Given the description of an element on the screen output the (x, y) to click on. 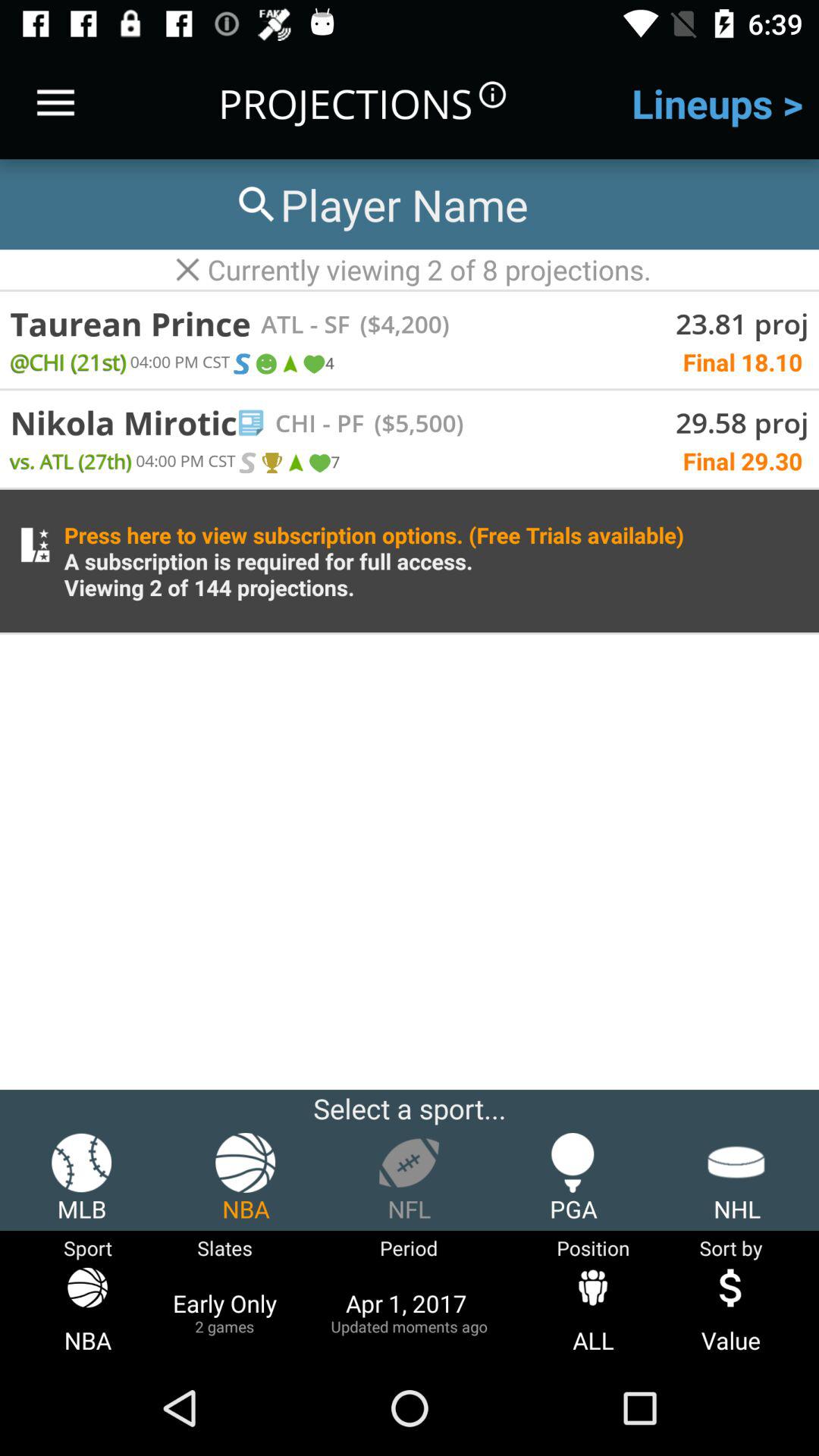
launch the item below nikola mirotic icon (70, 460)
